Given the description of an element on the screen output the (x, y) to click on. 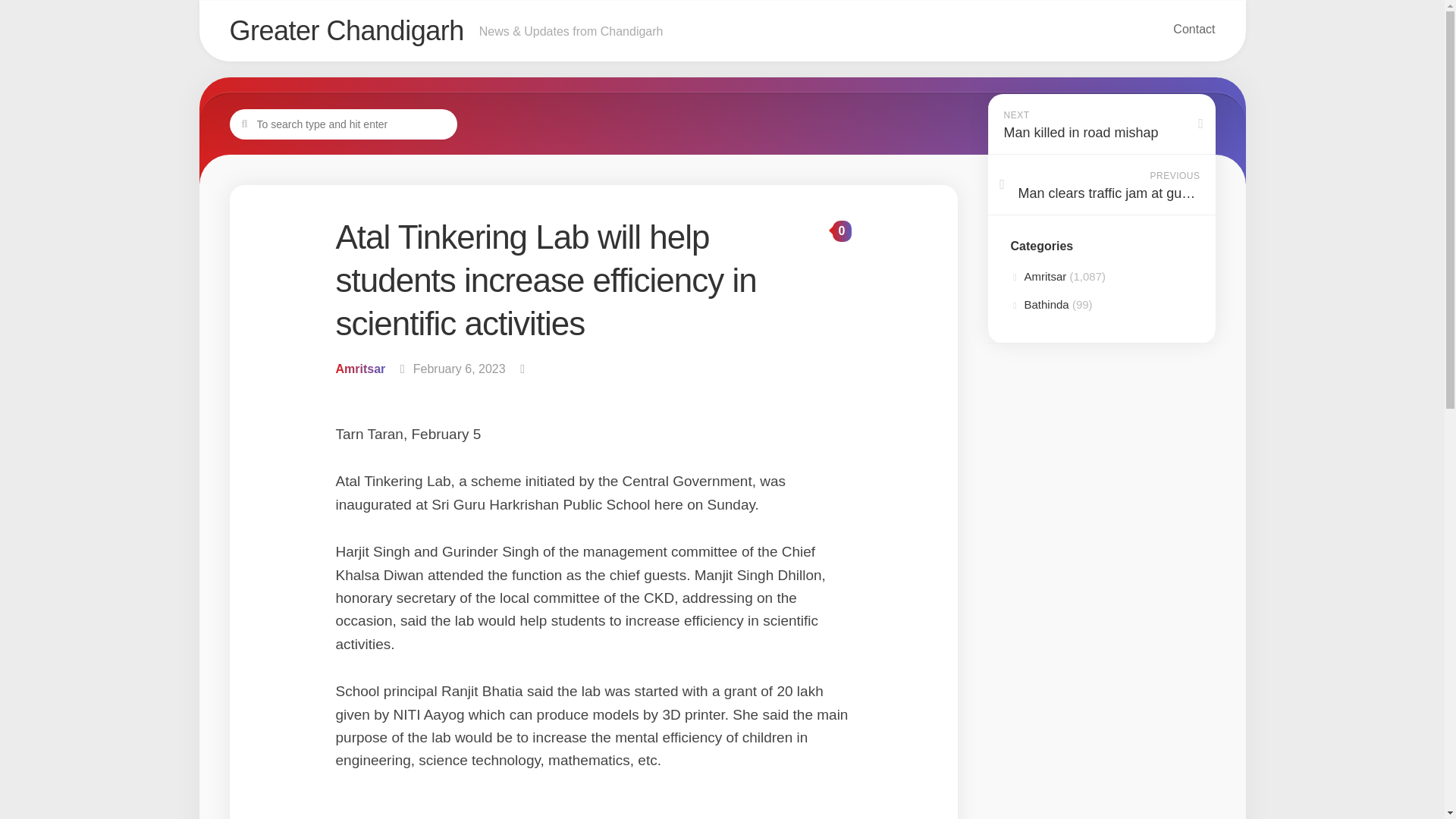
Greater Chandigarh (345, 31)
Contact (1193, 29)
Bathinda (1100, 124)
0 (1039, 304)
To search type and hit enter (841, 230)
Amritsar (342, 123)
To search type and hit enter (1100, 184)
Amritsar (1037, 276)
